Given the description of an element on the screen output the (x, y) to click on. 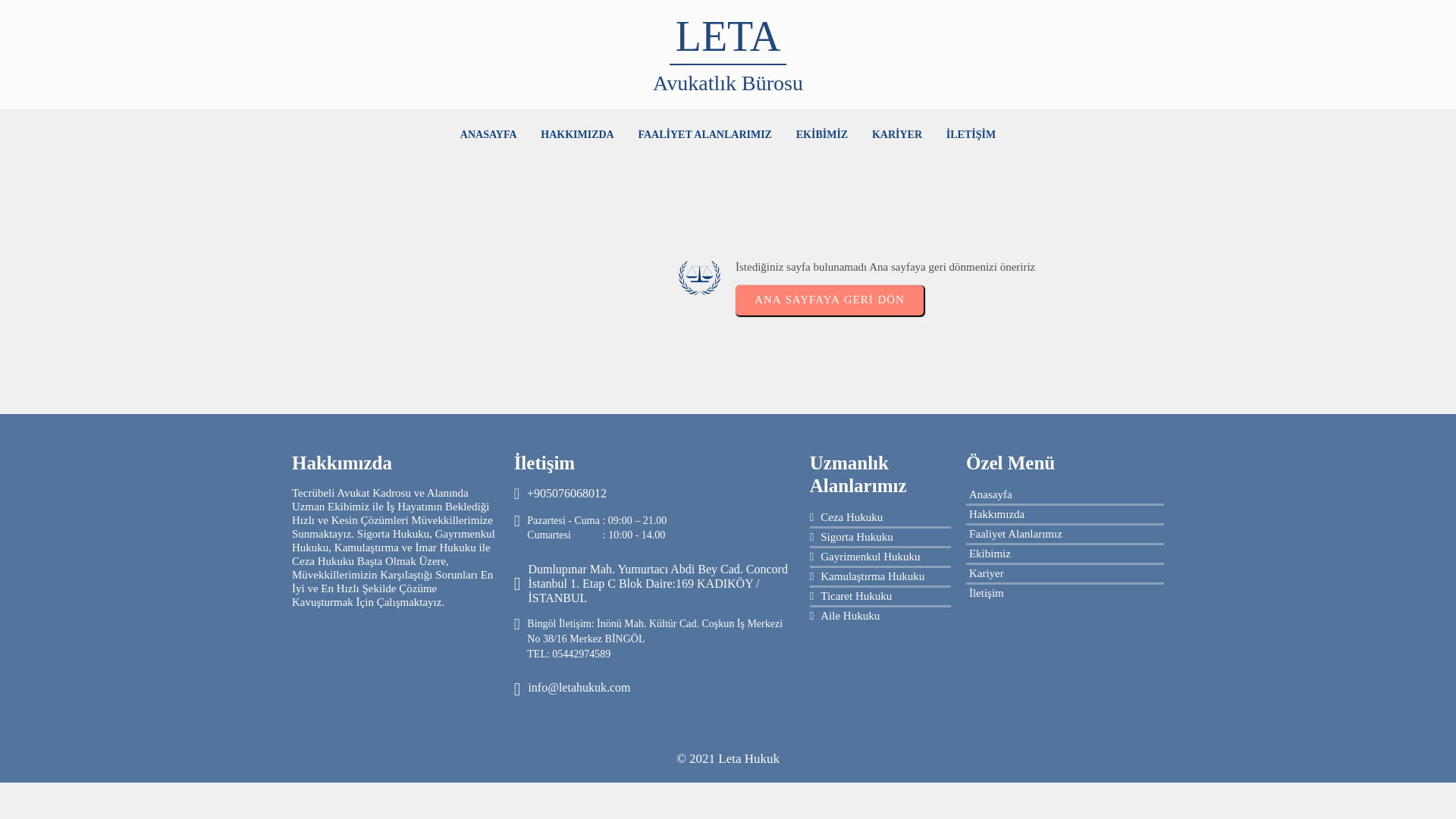
Ekibimiz (1064, 553)
FAALIYET ALANLARIMIZ (704, 134)
logo (699, 277)
Kariyer (1064, 573)
EKIBIMIZ (822, 134)
ANASAYFA (488, 134)
KARIYER (897, 134)
HAKKIMIZDA (576, 134)
Anasayfa (1064, 494)
